Given the description of an element on the screen output the (x, y) to click on. 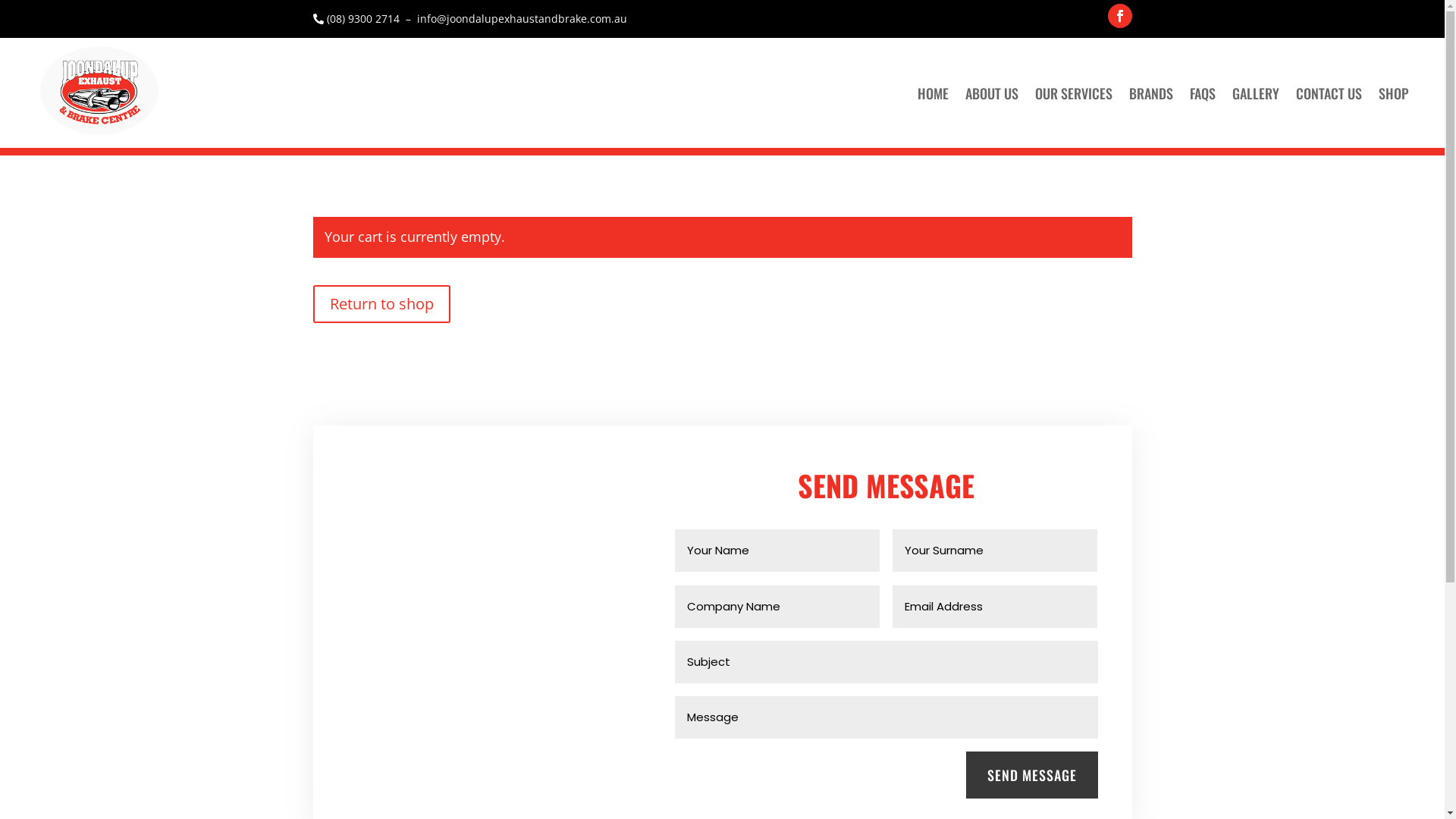
ABOUT US Element type: text (991, 92)
info@joondalupexhaustandbrake.com.au Element type: text (522, 18)
(08) 9300 2714 Element type: text (362, 18)
CONTACT US Element type: text (1328, 92)
GALLERY Element type: text (1255, 92)
Follow on Facebook Element type: hover (1119, 15)
OUR SERVICES Element type: text (1073, 92)
BRANDS Element type: text (1151, 92)
SEND MESSAGE Element type: text (1032, 774)
Return to shop Element type: text (380, 304)
SHOP Element type: text (1393, 92)
HOME Element type: text (932, 92)
FAQS Element type: text (1202, 92)
